Given the description of an element on the screen output the (x, y) to click on. 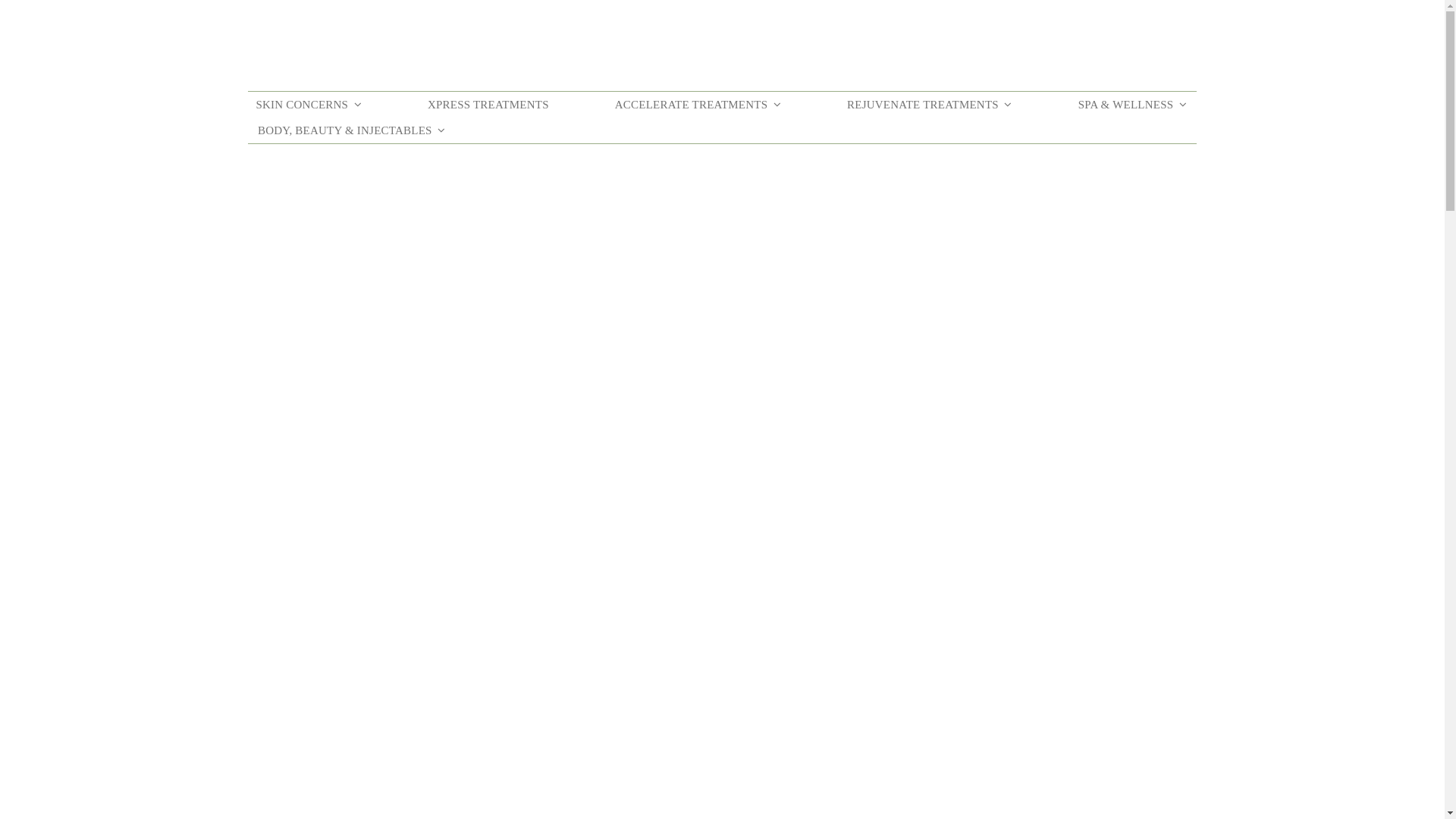
XPRESS TREATMENTS Element type: text (488, 104)
ACCELERATE TREATMENTS Element type: text (697, 104)
SPA & WELLNESS Element type: text (1132, 104)
BODY, BEAUTY & INJECTABLES Element type: text (351, 130)
SKIN CONCERNS Element type: text (307, 104)
REJUVENATE TREATMENTS Element type: text (929, 104)
